Given the description of an element on the screen output the (x, y) to click on. 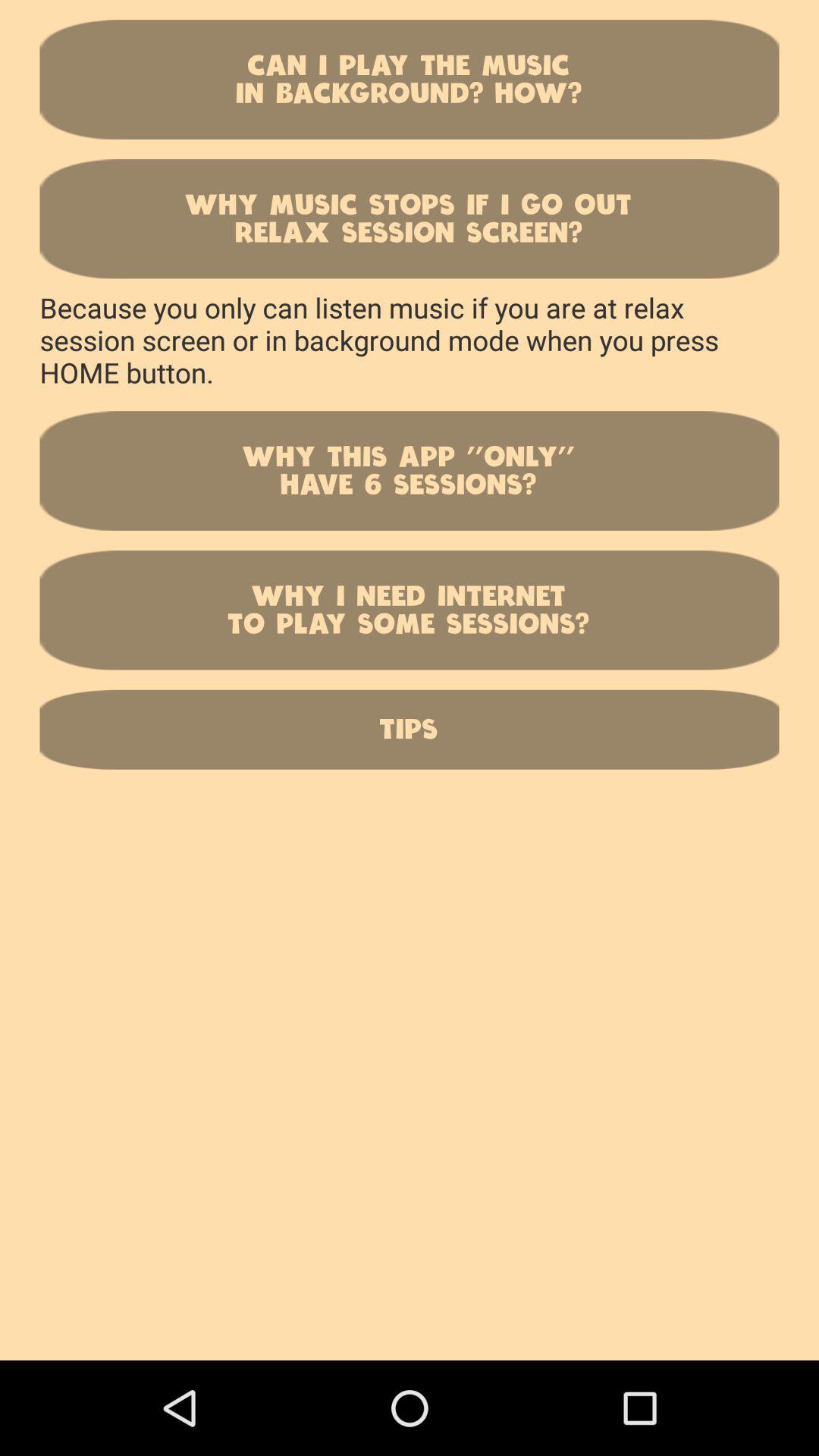
click the item above the why i need button (409, 470)
